Given the description of an element on the screen output the (x, y) to click on. 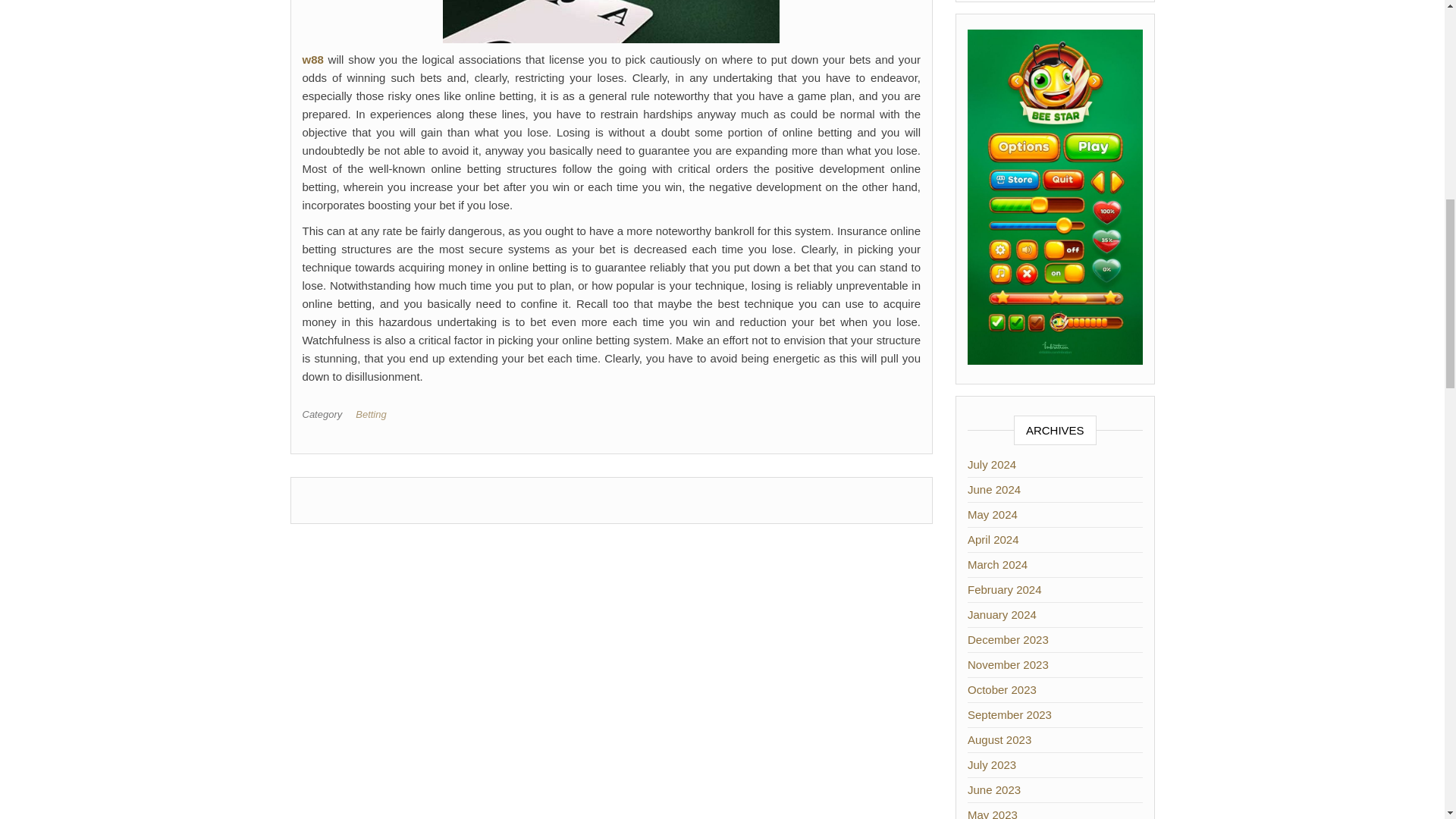
May 2024 (992, 513)
Betting (373, 414)
July 2023 (992, 764)
April 2024 (993, 539)
November 2023 (1008, 664)
July 2024 (992, 463)
May 2023 (992, 813)
February 2024 (1005, 589)
June 2024 (994, 489)
December 2023 (1008, 639)
